Given the description of an element on the screen output the (x, y) to click on. 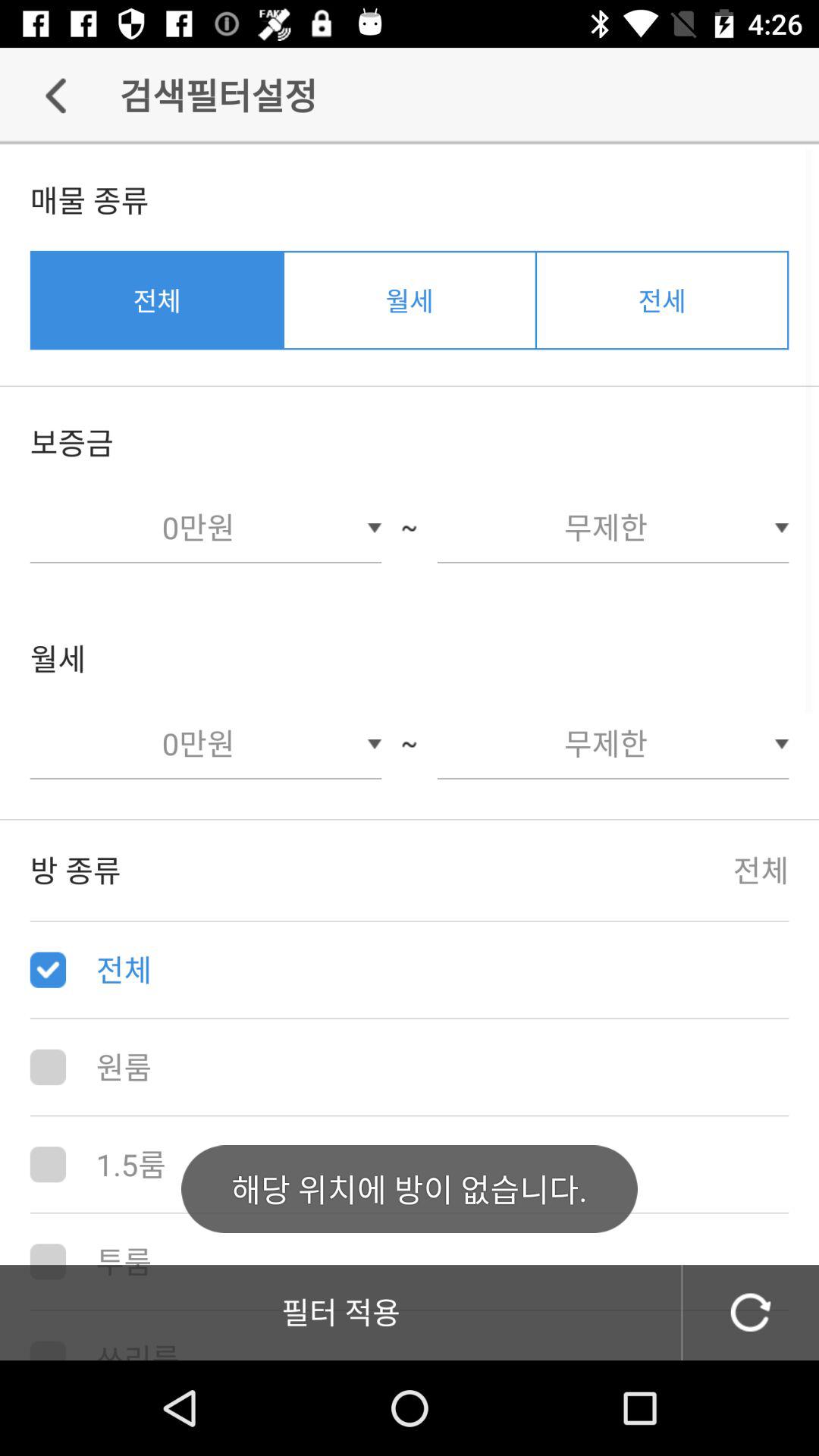
select the 2nd option on the top (409, 299)
